Given the description of an element on the screen output the (x, y) to click on. 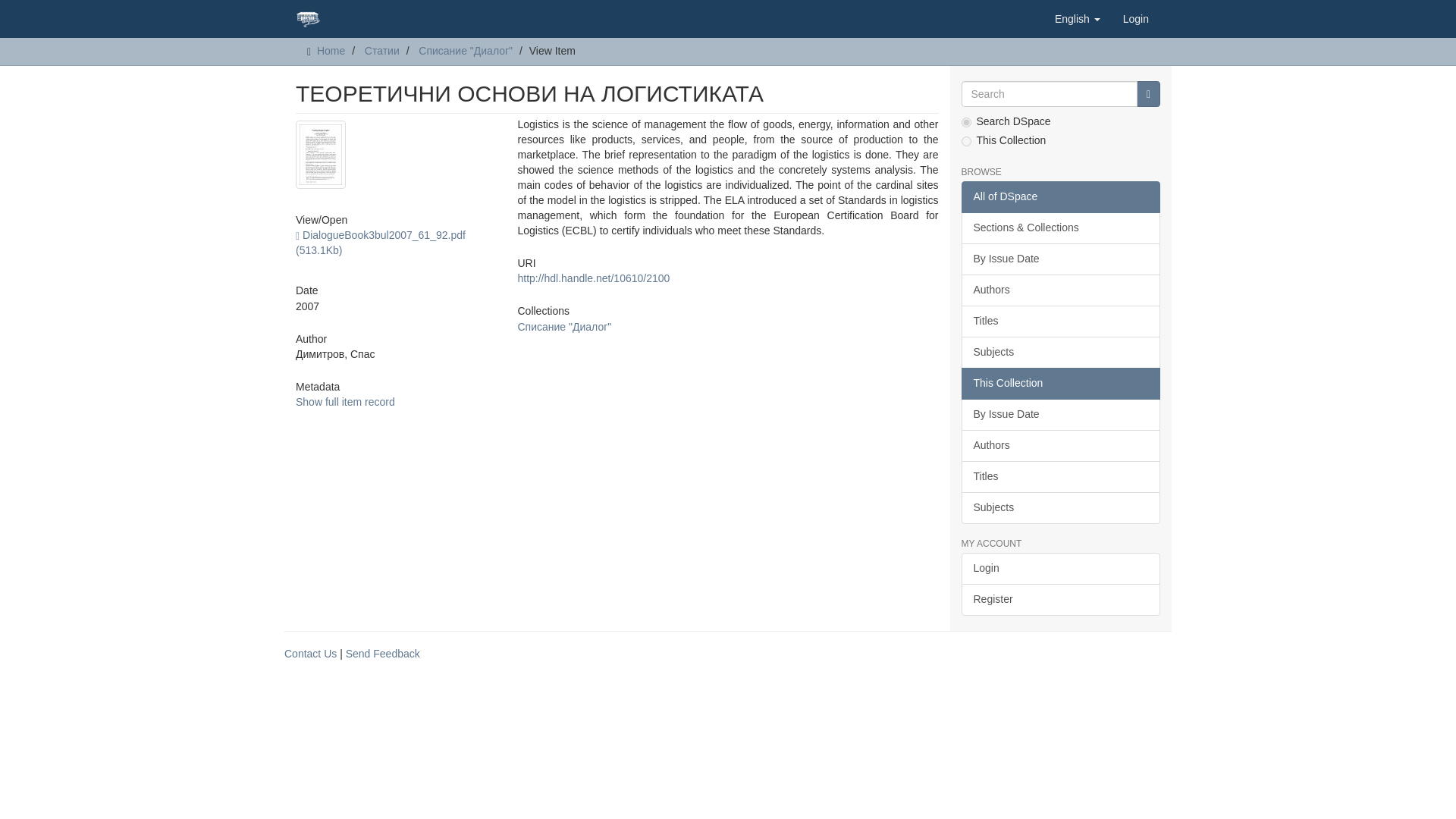
Show full item record (344, 401)
By Issue Date (1060, 259)
Subjects (1060, 352)
Login (1060, 568)
Titles (1060, 477)
Go (1148, 94)
All of DSpace (1060, 196)
Login (1136, 18)
English  (1077, 18)
This Collection (1060, 383)
